Given the description of an element on the screen output the (x, y) to click on. 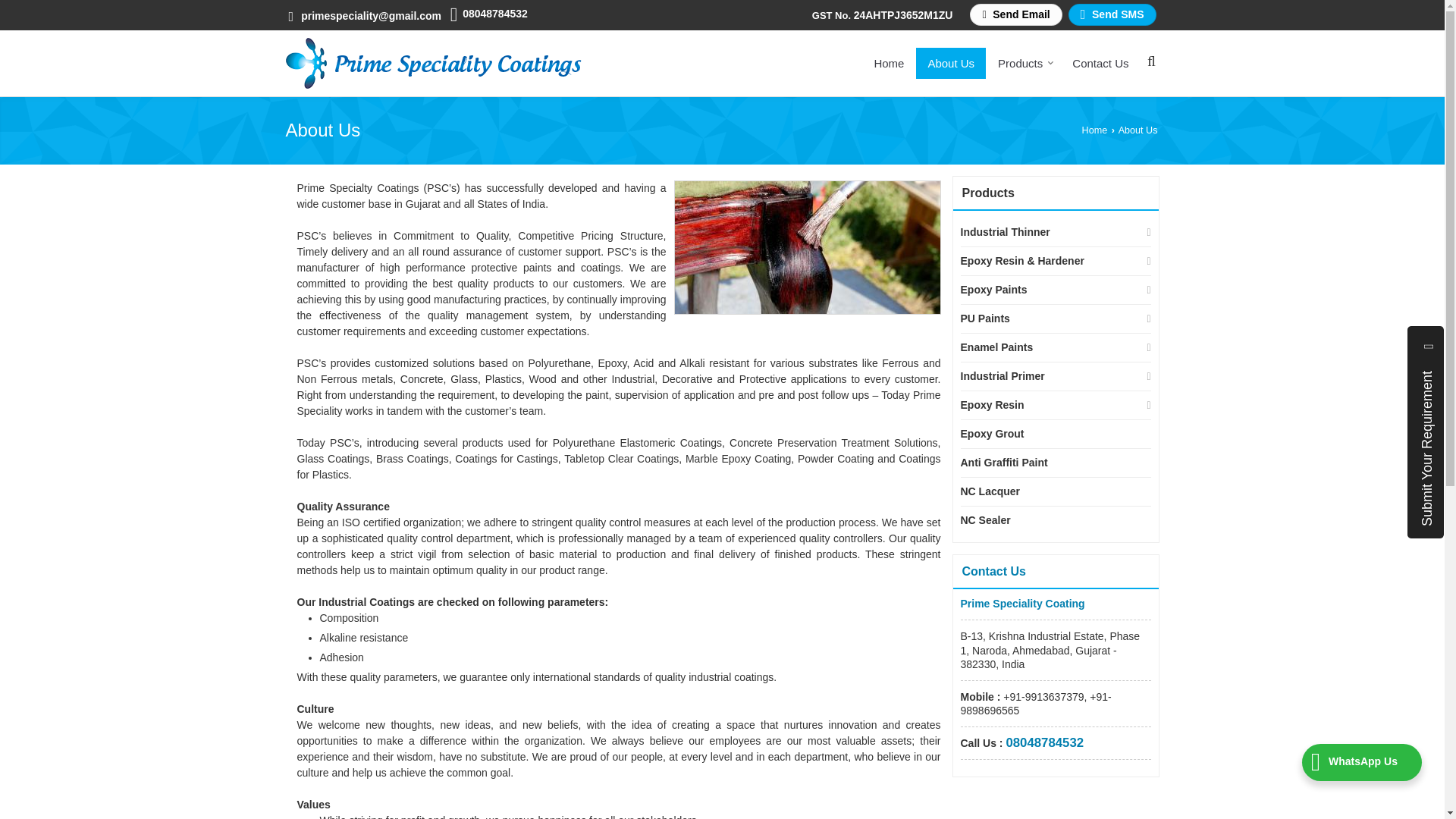
Send SMS (1112, 14)
Home (888, 62)
Prime Speciality Coating (432, 62)
About Us (950, 62)
Send Email (1015, 14)
Home (888, 62)
Products (1023, 62)
Products (1023, 62)
About Us (950, 62)
